Given the description of an element on the screen output the (x, y) to click on. 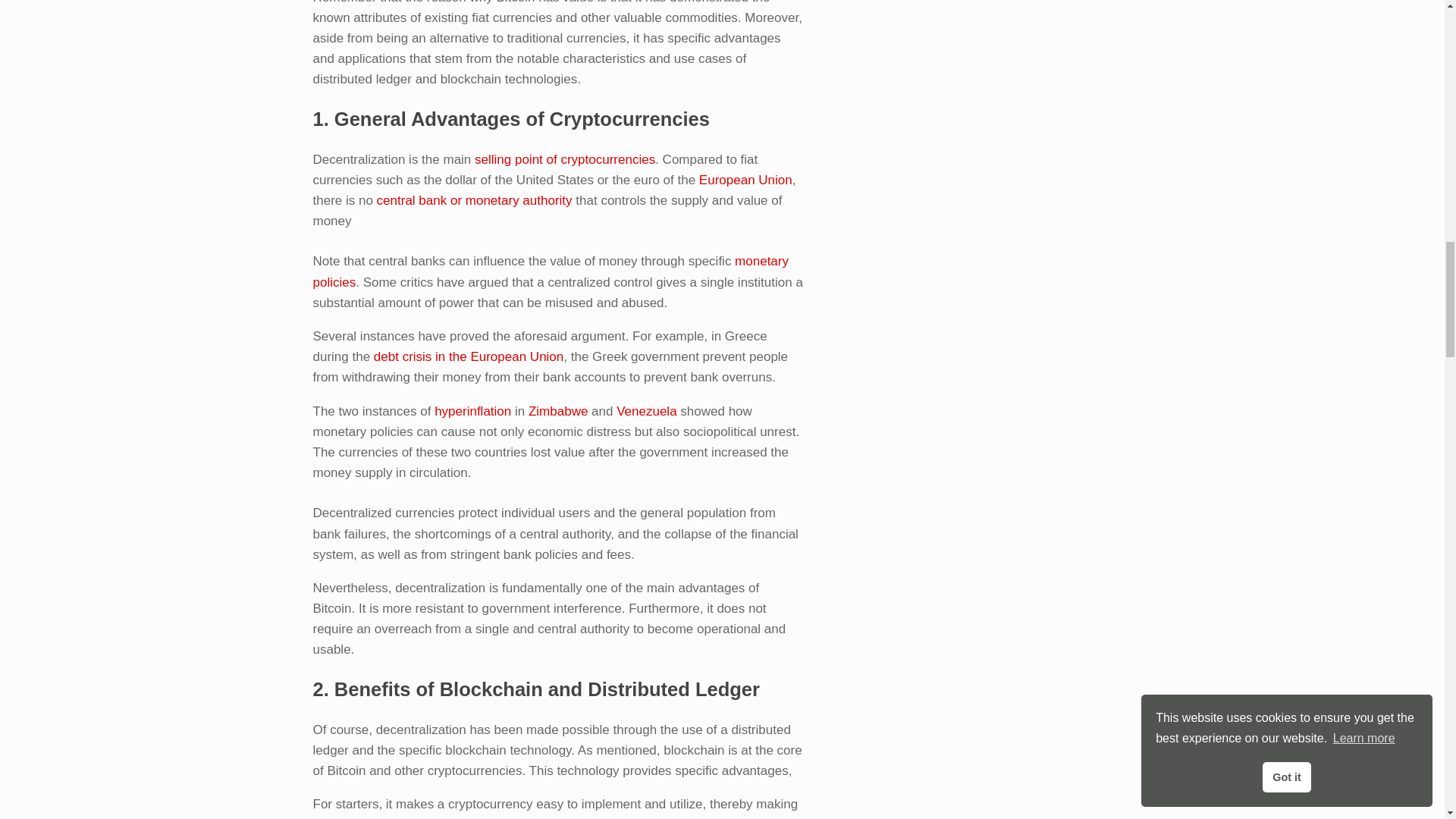
selling point of cryptocurrencies (564, 159)
Venezuela (646, 411)
monetary policies (550, 271)
central bank or monetary authority (474, 200)
European Union (745, 179)
Zimbabwe (558, 411)
hyperinflation (472, 411)
debt crisis in the European Union (468, 356)
